Given the description of an element on the screen output the (x, y) to click on. 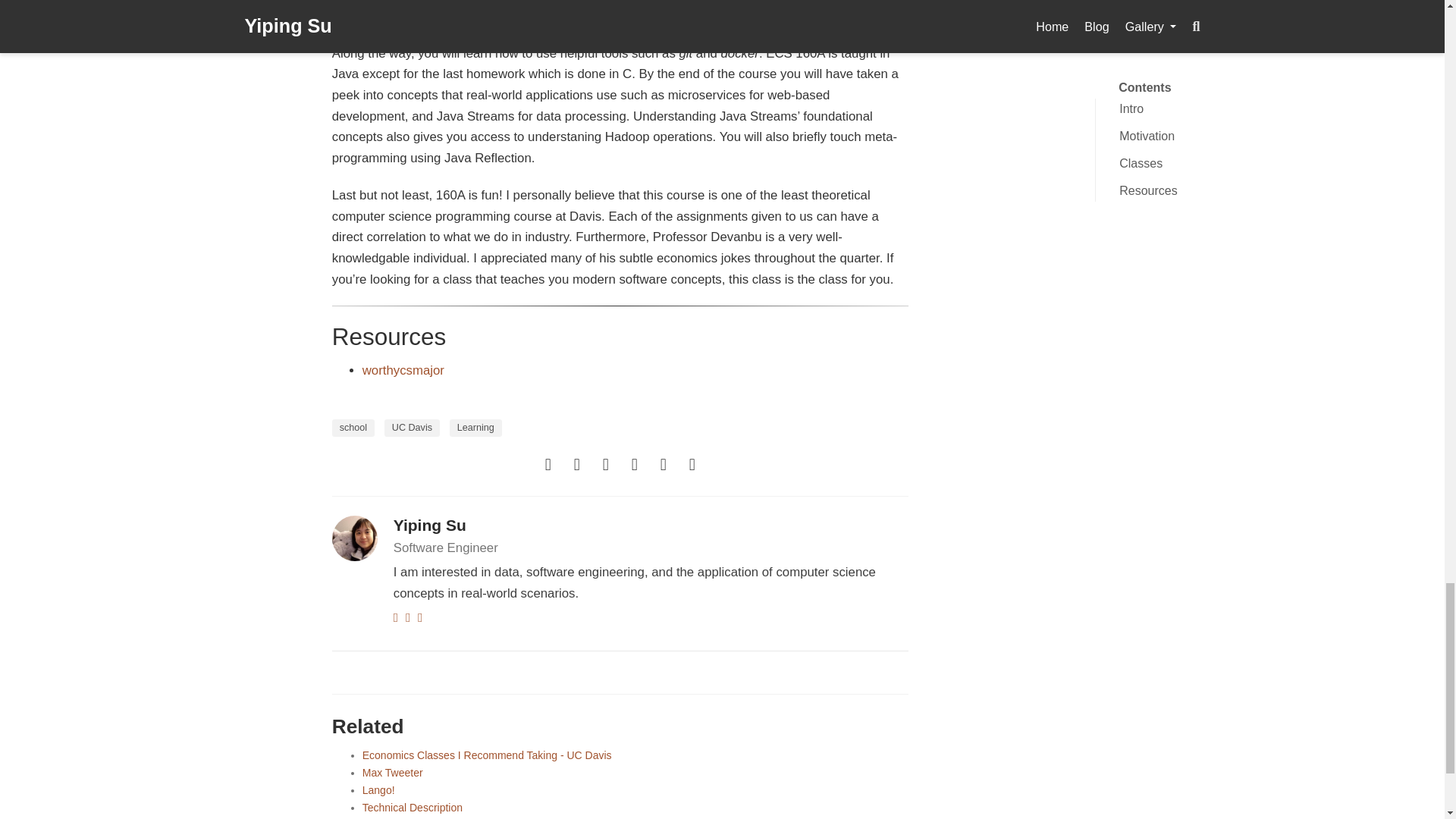
school (352, 427)
Yiping Su (429, 524)
Learning (475, 427)
UC Davis (411, 427)
worthycsmajor (403, 370)
